Given the description of an element on the screen output the (x, y) to click on. 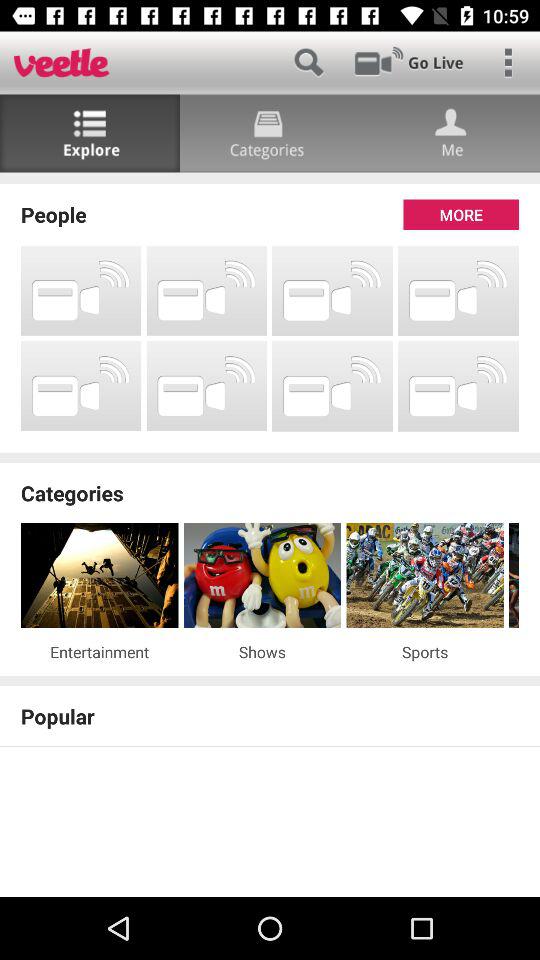
launch the app above entertainment item (99, 575)
